Given the description of an element on the screen output the (x, y) to click on. 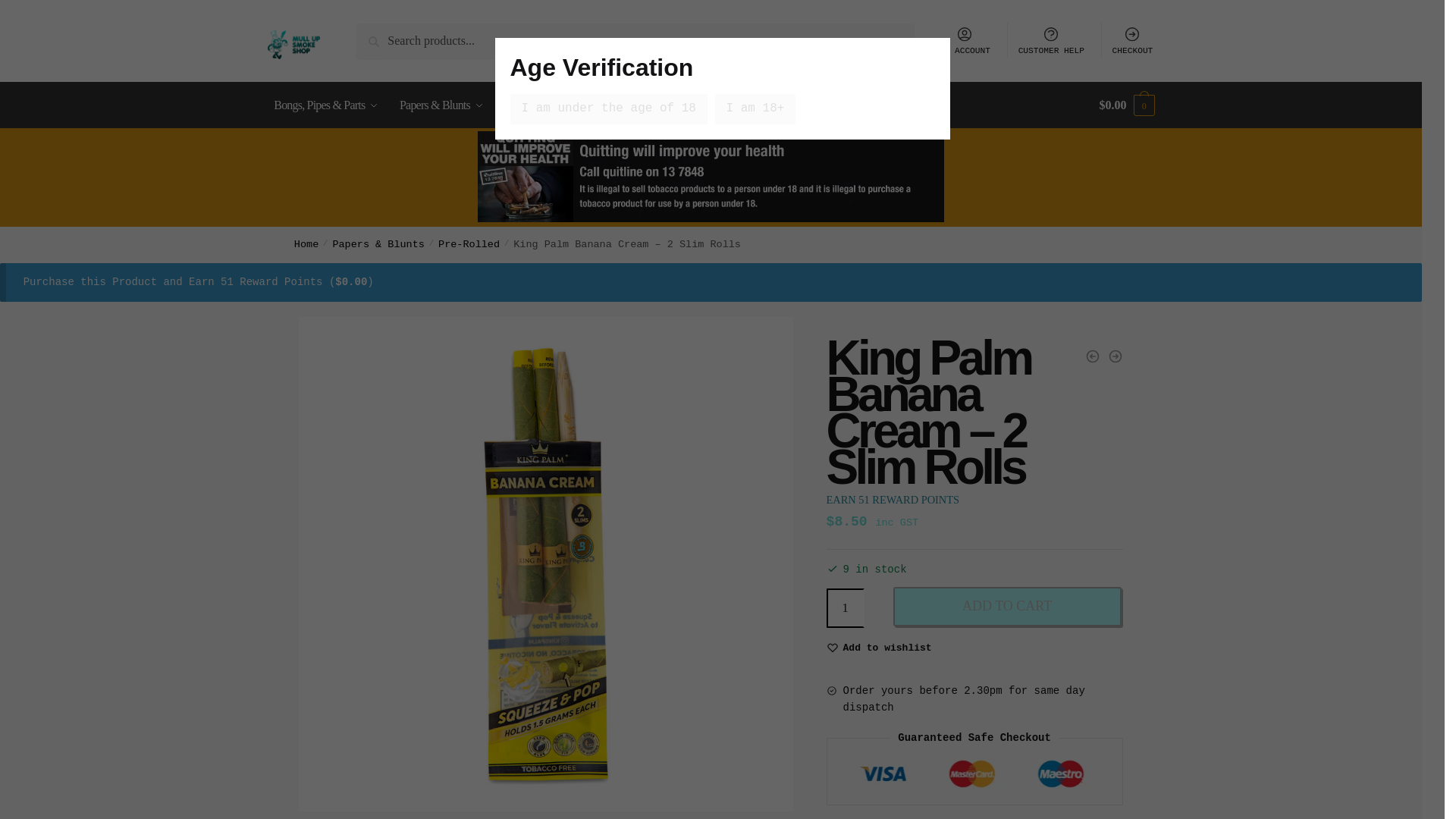
1 (845, 608)
Accessories (536, 104)
View your shopping cart (1126, 104)
Search (377, 34)
CUSTOMER HELP (1314, 50)
Wishlist (887, 647)
MY ACCOUNT (1205, 50)
